Given the description of an element on the screen output the (x, y) to click on. 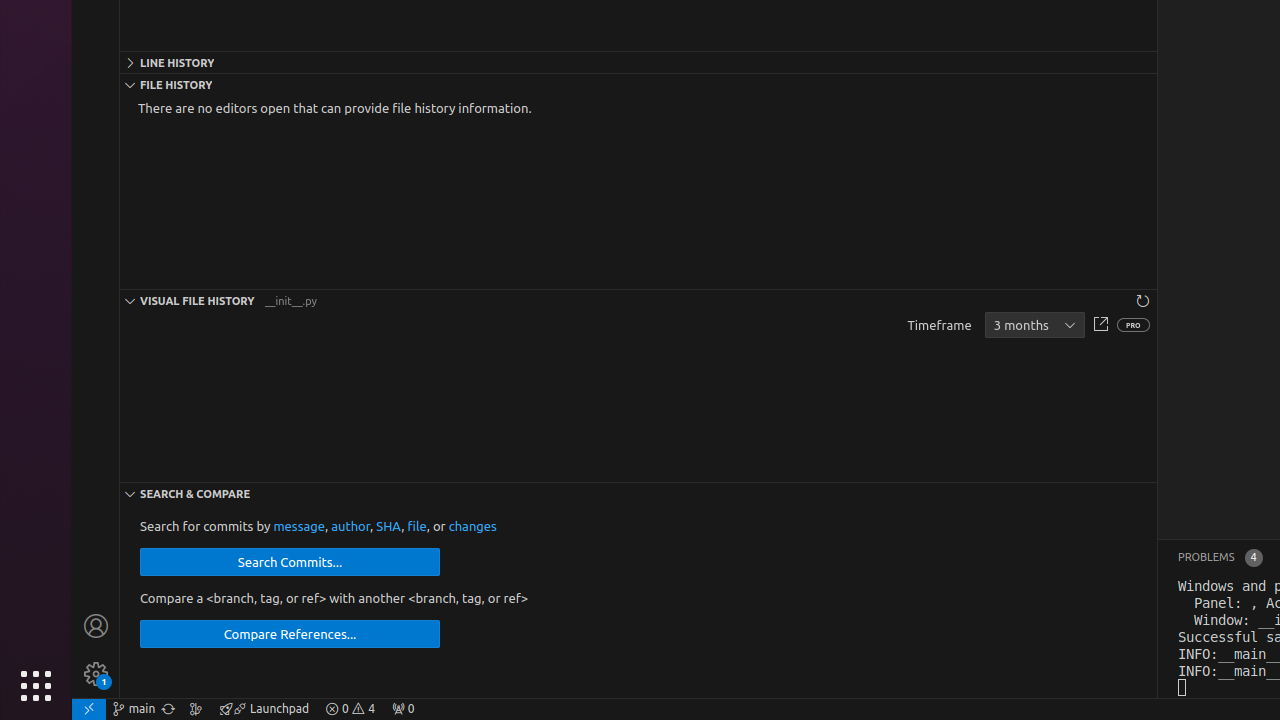
remote Element type: push-button (89, 709)
file Element type: push-button (417, 526)
Search & Compare Section Element type: push-button (638, 492)
OSWorld (Git) - Synchronize Changes Element type: push-button (168, 709)
Visual File History Section Element type: push-button (638, 300)
